Given the description of an element on the screen output the (x, y) to click on. 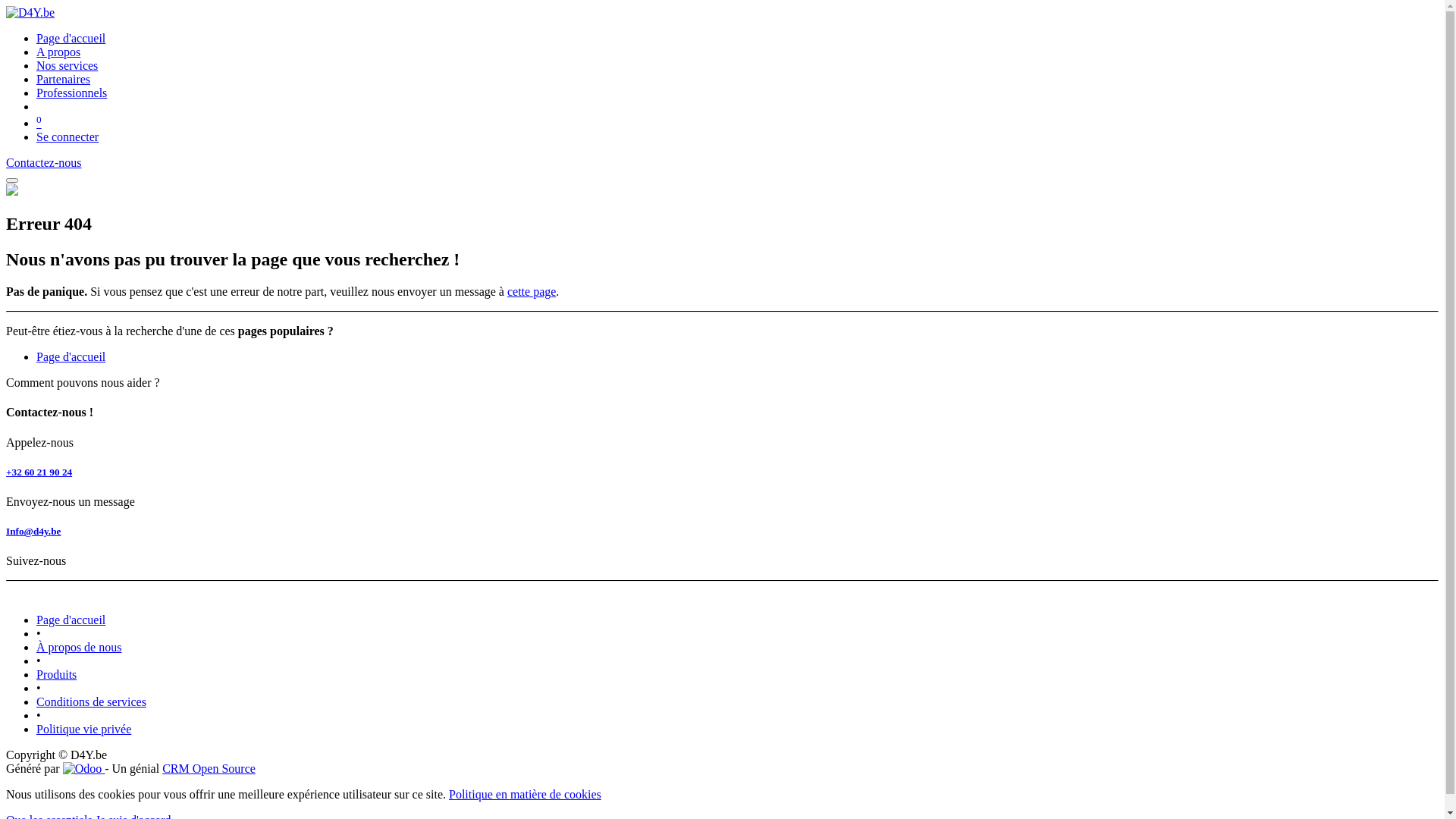
Page d'accueil Element type: text (70, 37)
A propos Element type: text (58, 51)
Page d'accueil Element type: text (70, 356)
Page d'accueil Element type: text (70, 619)
Contactez-nous Element type: text (43, 162)
0 Element type: text (38, 122)
Produits Element type: text (56, 674)
CRM Open Source Element type: text (208, 768)
Partenaires Element type: text (63, 78)
Professionnels Element type: text (71, 92)
Nos services Element type: text (66, 65)
+32 60 21 90 24 Element type: text (39, 471)
D4Y.be Element type: hover (30, 12)
cette page Element type: text (531, 291)
Se connecter Element type: text (67, 136)
Conditions de services Element type: text (91, 701)
Info@d4y.be Element type: text (33, 530)
